Given the description of an element on the screen output the (x, y) to click on. 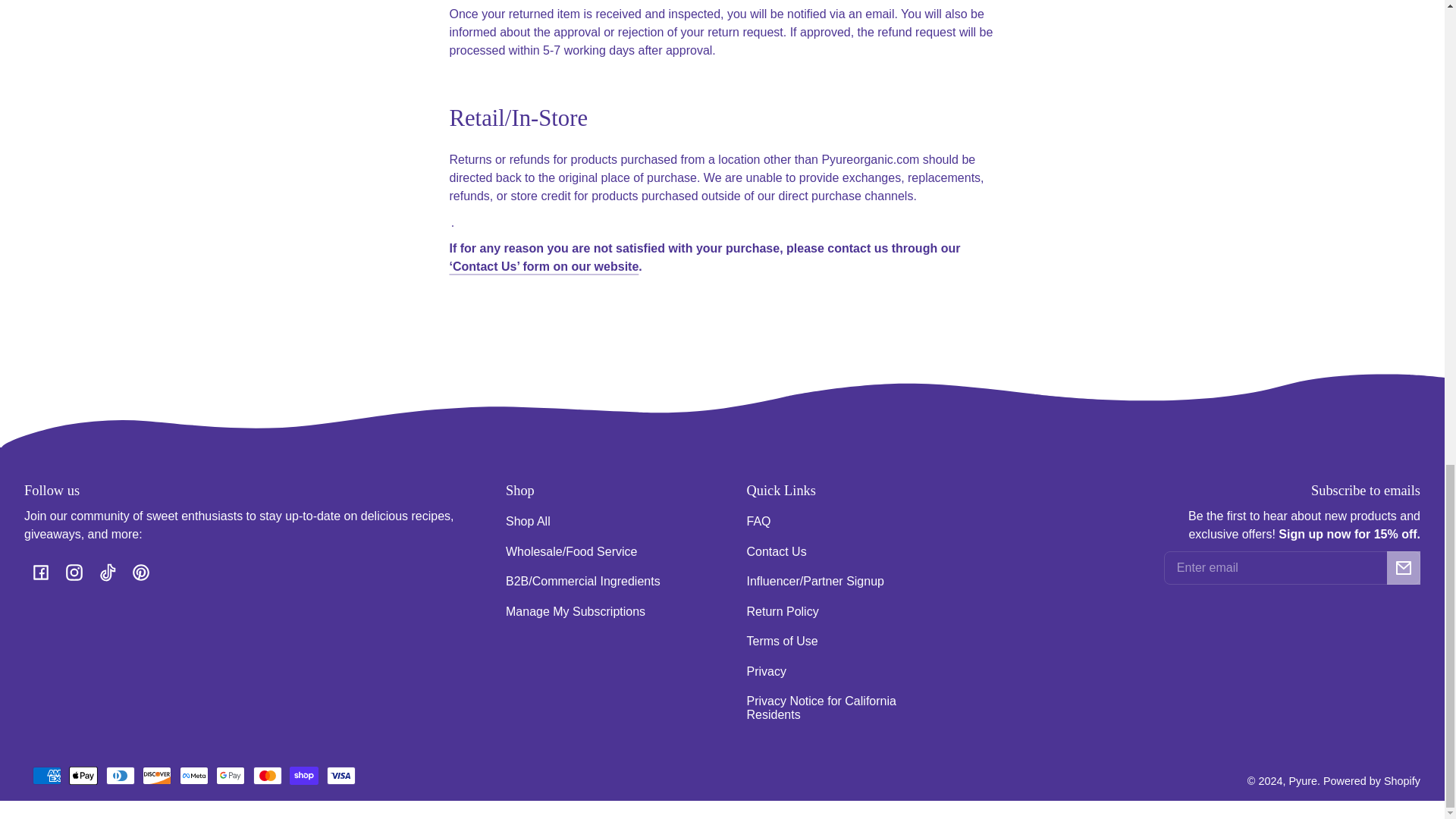
Meta Pay (193, 775)
Visa (340, 775)
Pinterest (140, 572)
Google Pay (229, 775)
Manage My Subscriptions (575, 611)
Mastercard (267, 775)
Privacy Notice for California Residents (842, 709)
Shop Pay (303, 775)
Terms of Use (780, 641)
Powered by Shopify (1372, 780)
Shop All (527, 521)
American Express (46, 775)
Pyure (1302, 780)
TikTok (106, 572)
Discover (156, 775)
